Given the description of an element on the screen output the (x, y) to click on. 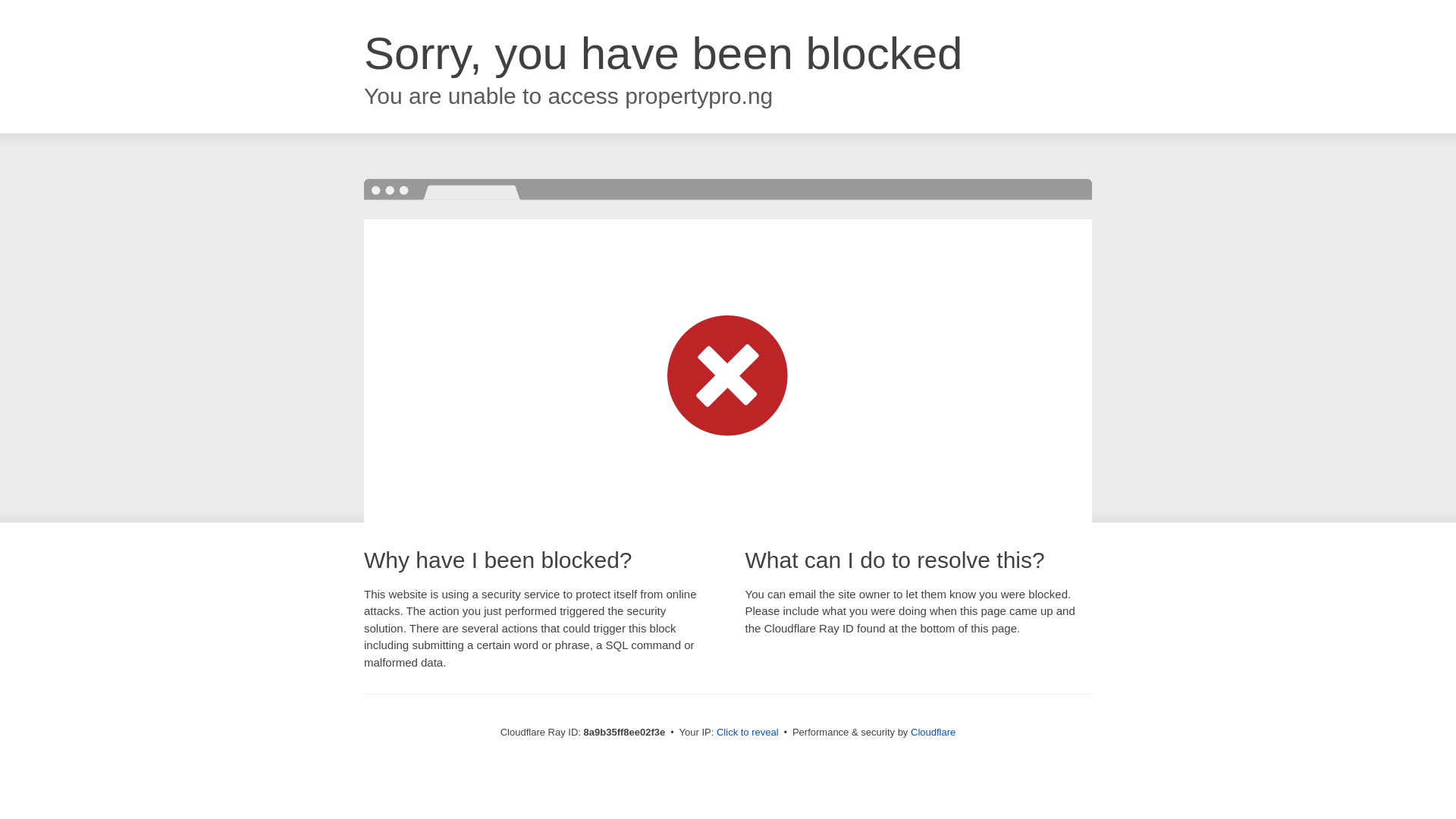
Click to reveal (747, 732)
Cloudflare (933, 731)
